Given the description of an element on the screen output the (x, y) to click on. 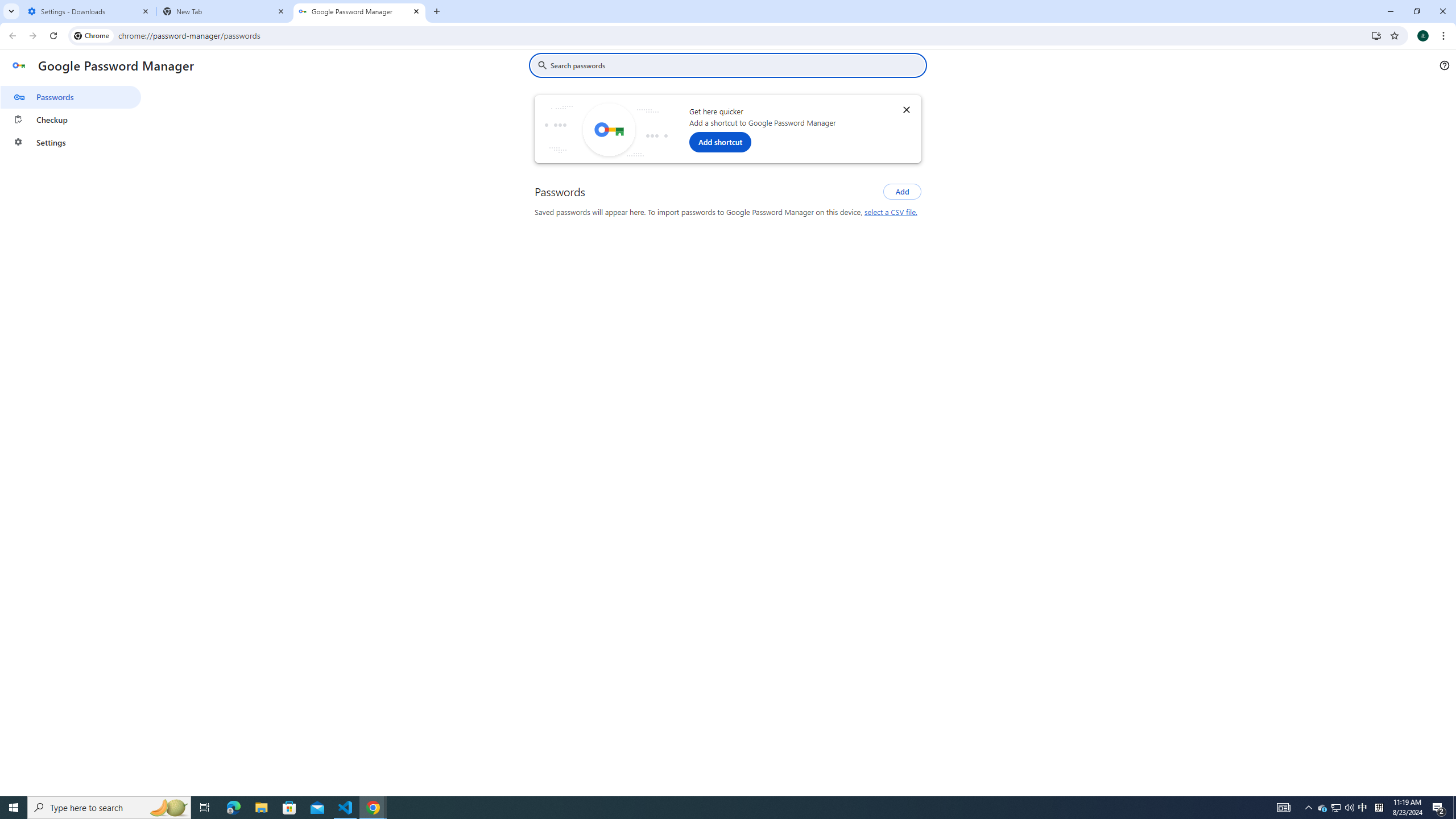
AutomationID: menu (71, 117)
select a CSV file. (890, 212)
Settings - Downloads (88, 11)
Add shortcut (719, 142)
Install Google Password Manager (1376, 35)
Checkup (70, 119)
Add (902, 191)
Passwords (70, 96)
